Given the description of an element on the screen output the (x, y) to click on. 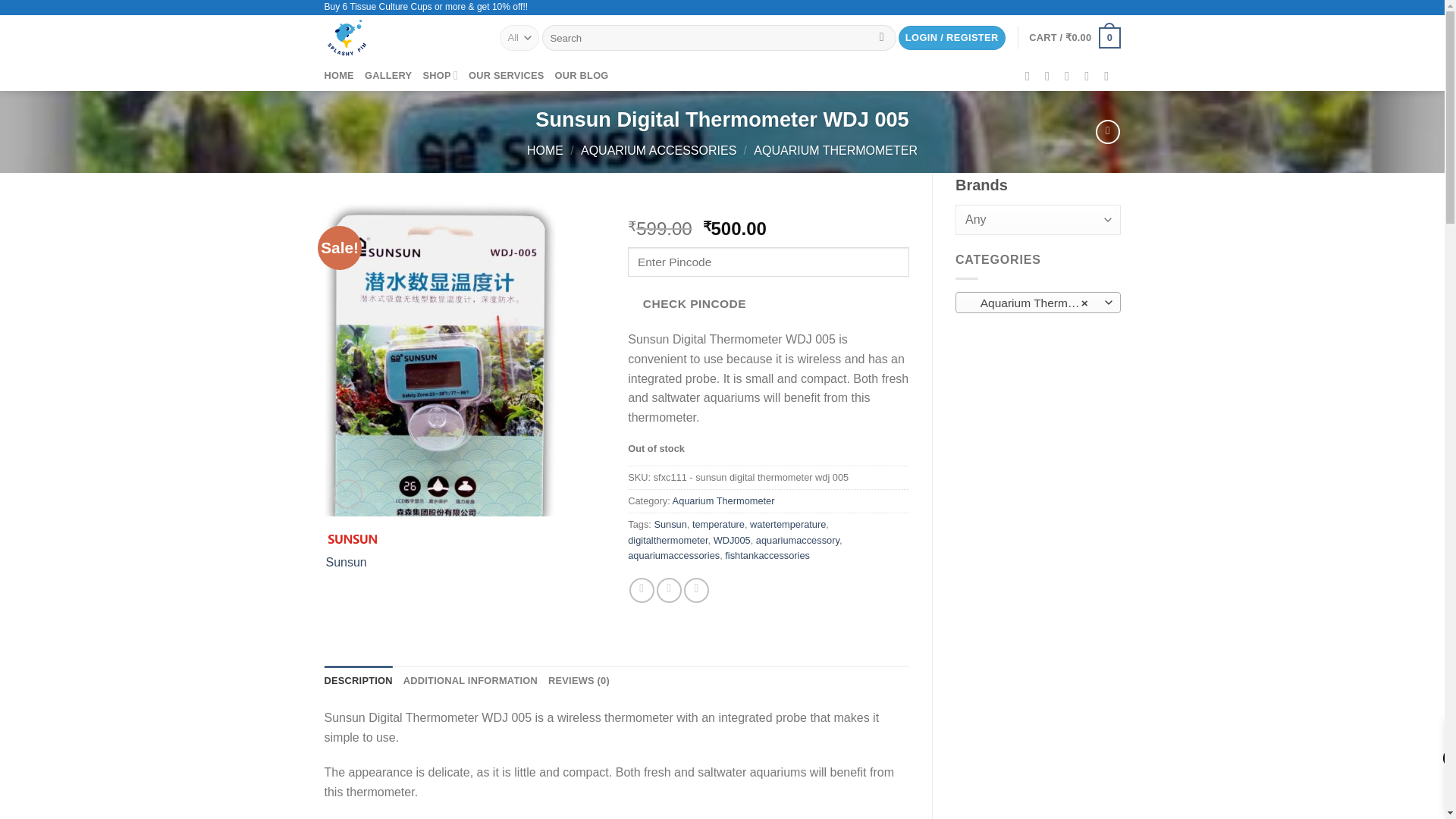
Follow on Facebook (1030, 75)
Search (881, 37)
Share on Twitter (668, 590)
Follow on YouTube (1109, 75)
Zoom (347, 493)
Share on Facebook (640, 590)
GALLERY (388, 75)
Call us (1090, 75)
Send us an email (1070, 75)
Sunsun Digital Thermometer (439, 359)
Follow on Instagram (1051, 75)
HOME (338, 75)
SHOP (440, 75)
Cart (1074, 37)
